Given the description of an element on the screen output the (x, y) to click on. 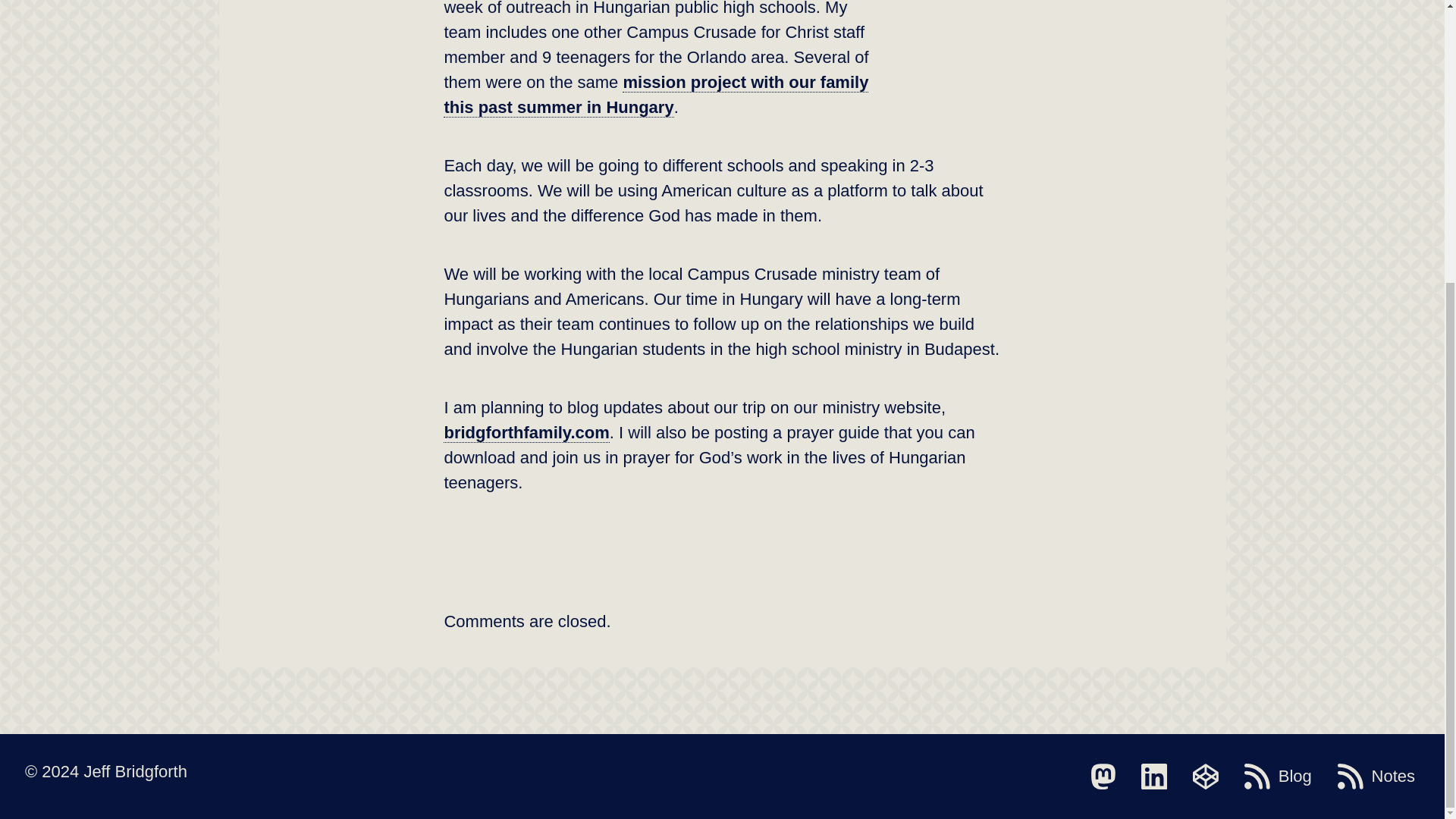
mission project with our family this past summer in Hungary (655, 94)
Codepen (1205, 776)
Blog (1278, 776)
Notes (1376, 776)
Mastodon (1102, 776)
LinkedIn (1154, 776)
bridgforthfamily.com (526, 433)
